Given the description of an element on the screen output the (x, y) to click on. 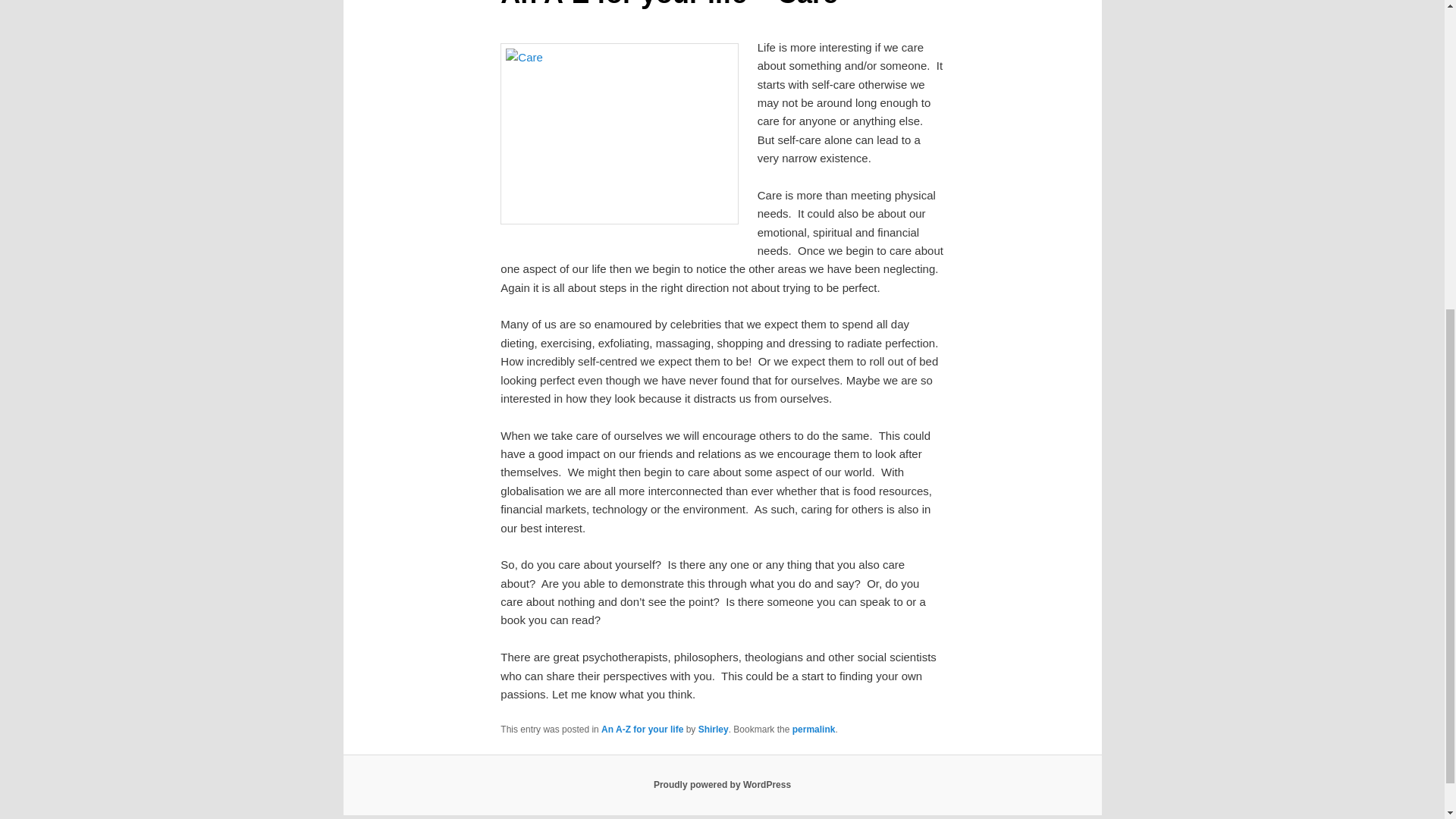
Semantic Personal Publishing Platform (721, 784)
Shirley (713, 728)
An A-Z for your life (641, 728)
Proudly powered by WordPress (721, 784)
permalink (813, 728)
